Given the description of an element on the screen output the (x, y) to click on. 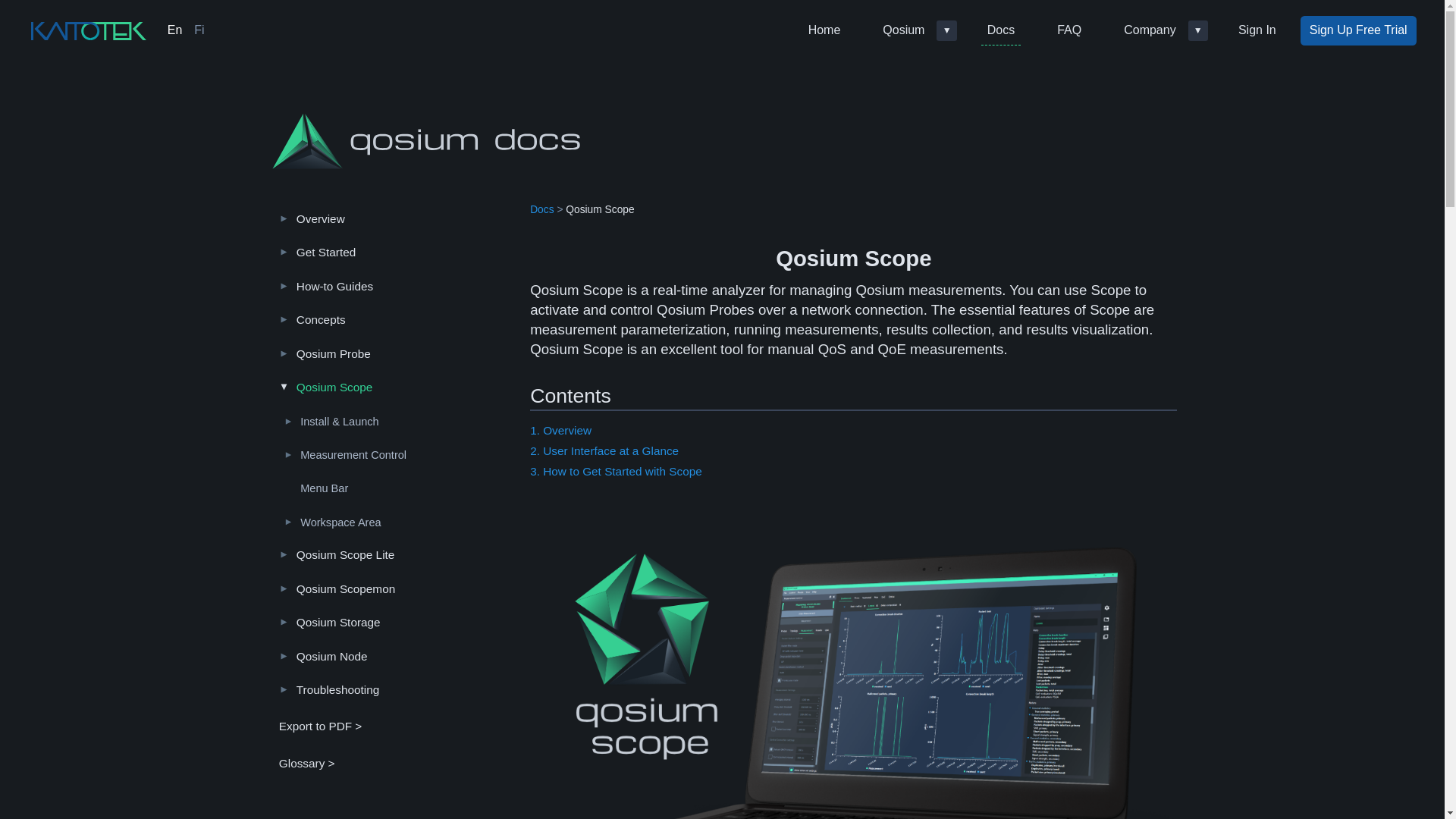
Home (824, 30)
How-to Guides (392, 285)
Sign Up Free Trial (1358, 30)
Qosium (903, 30)
Concepts (392, 319)
Overview (392, 218)
Company (1149, 30)
Get Started (392, 252)
FAQ (1069, 30)
Sign In (1256, 30)
